Given the description of an element on the screen output the (x, y) to click on. 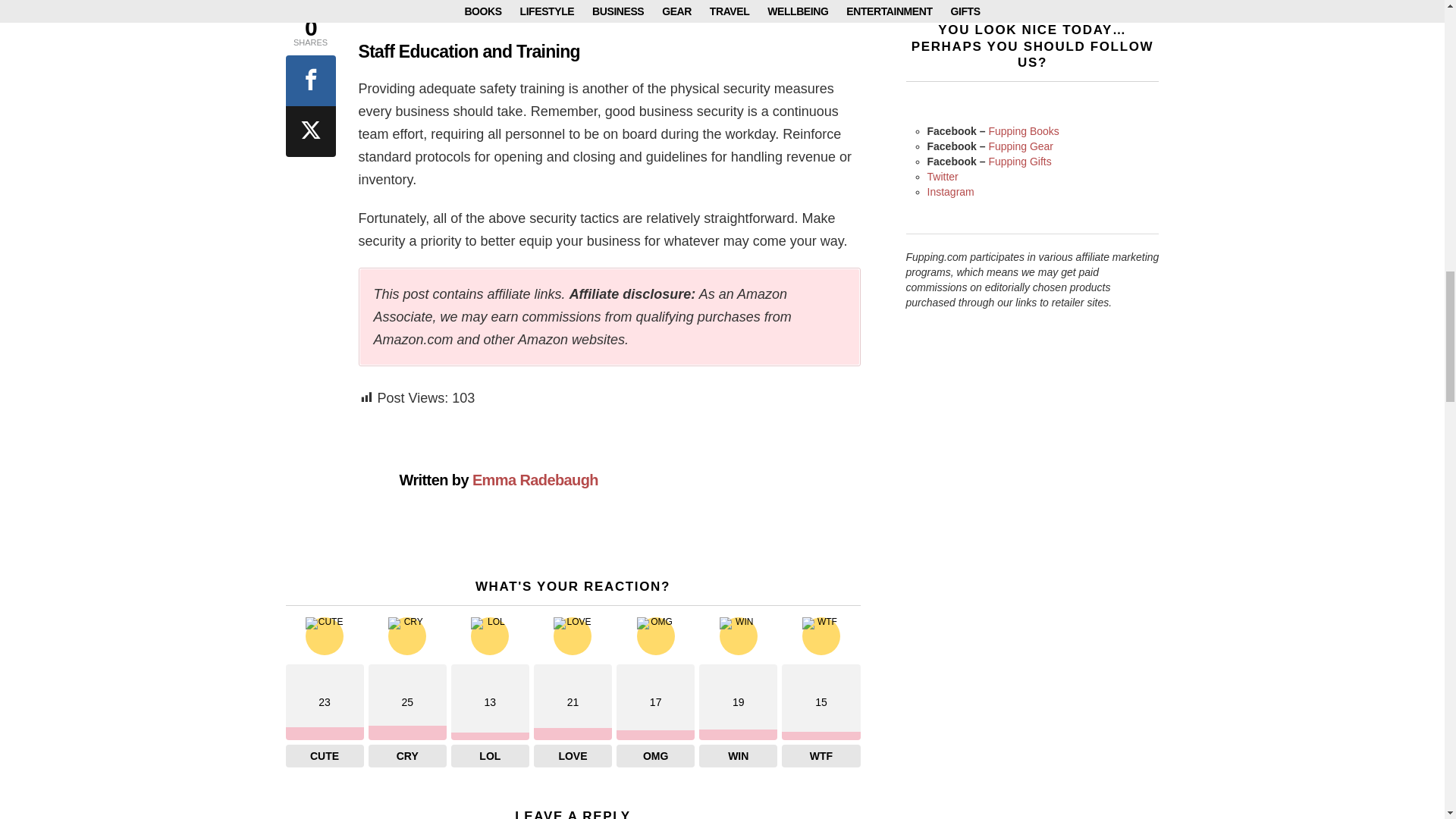
Emma Radebaugh (534, 479)
